Given the description of an element on the screen output the (x, y) to click on. 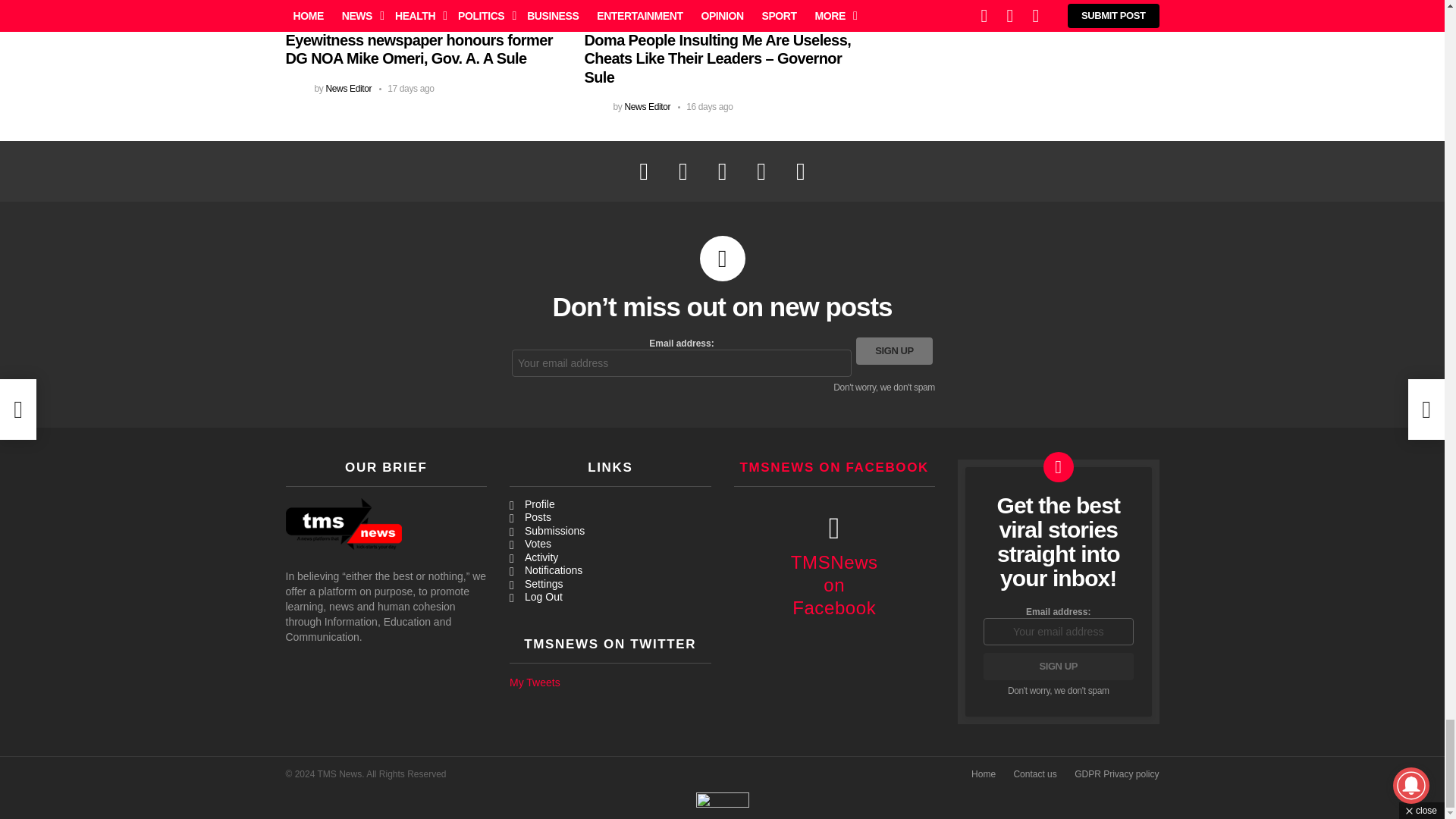
Sign up (1059, 666)
Sign up (894, 350)
